Given the description of an element on the screen output the (x, y) to click on. 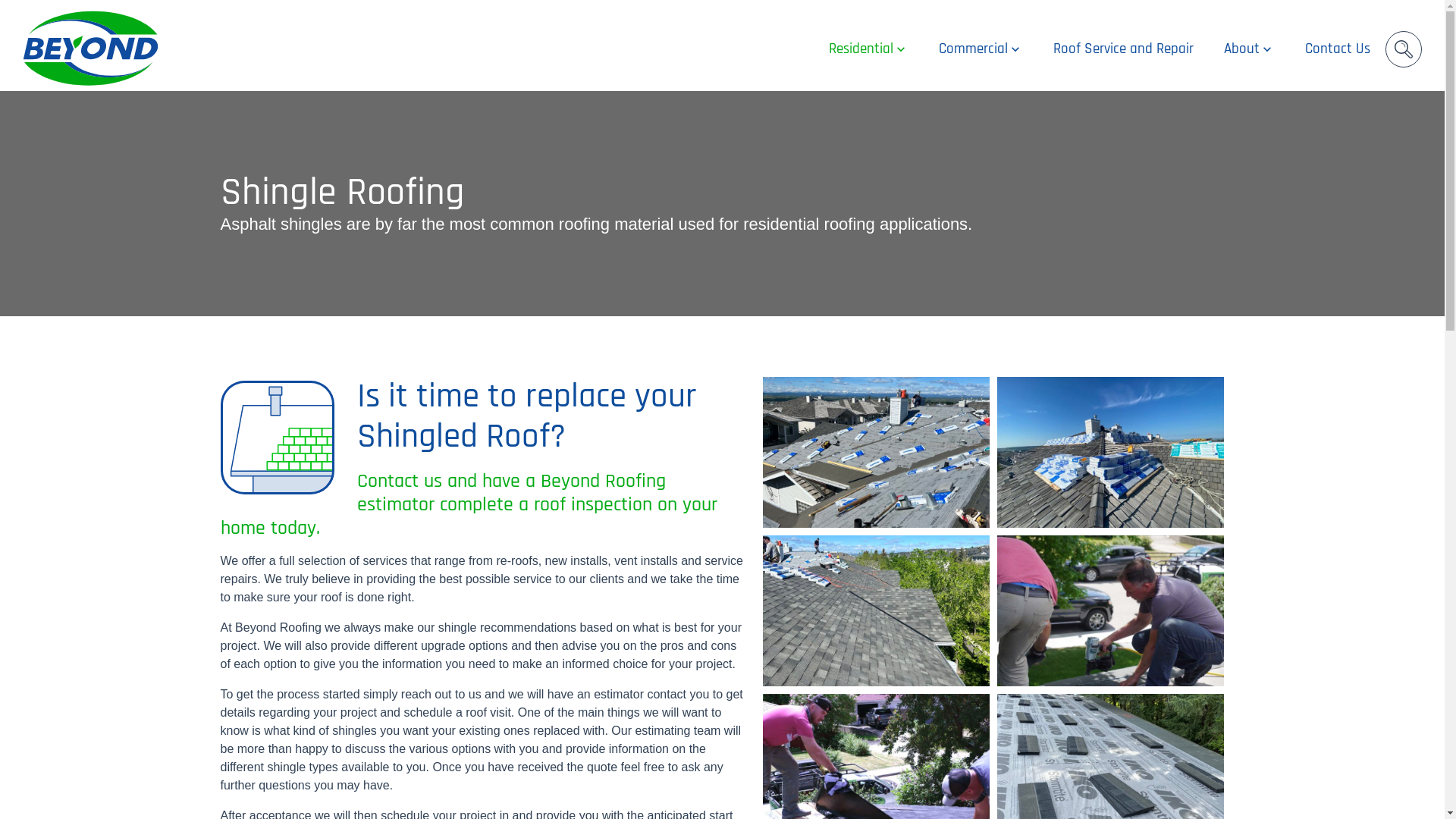
shingle roofing Element type: hover (276, 437)
About Element type: text (1248, 49)
Contact Us Element type: text (1337, 49)
Commercial Element type: text (980, 49)
Residential Element type: text (868, 49)
Roof Service and Repair Element type: text (1123, 49)
